Given the description of an element on the screen output the (x, y) to click on. 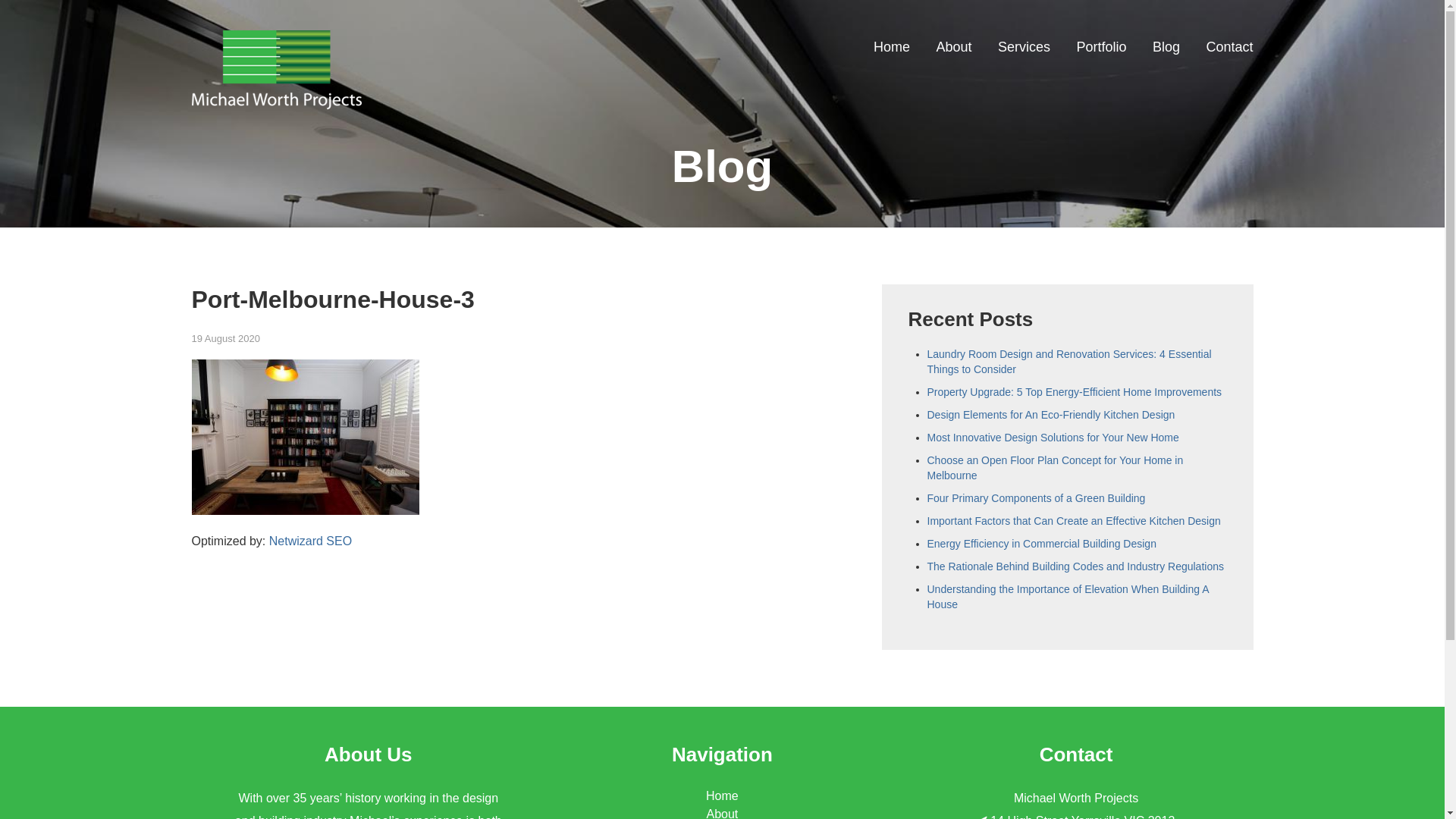
The Rationale Behind Building Codes and Industry Regulations Element type: text (1074, 566)
Property Upgrade: 5 Top Energy-Efficient Home Improvements Element type: text (1073, 391)
Energy Efficiency in Commercial Building Design Element type: text (1040, 543)
Netwizard SEO Element type: text (310, 540)
Portfolio Element type: text (1101, 46)
About Element type: text (953, 46)
Contact Element type: text (1228, 46)
Most Innovative Design Solutions for Your New Home Element type: text (1052, 437)
Four Primary Components of a Green Building Element type: text (1035, 498)
Home Element type: text (722, 795)
Home Element type: text (891, 46)
Choose an Open Floor Plan Concept for Your Home in Melbourne Element type: text (1054, 467)
Services Element type: text (1023, 46)
Design Elements for An Eco-Friendly Kitchen Design Element type: text (1050, 414)
Blog Element type: text (1165, 46)
